Given the description of an element on the screen output the (x, y) to click on. 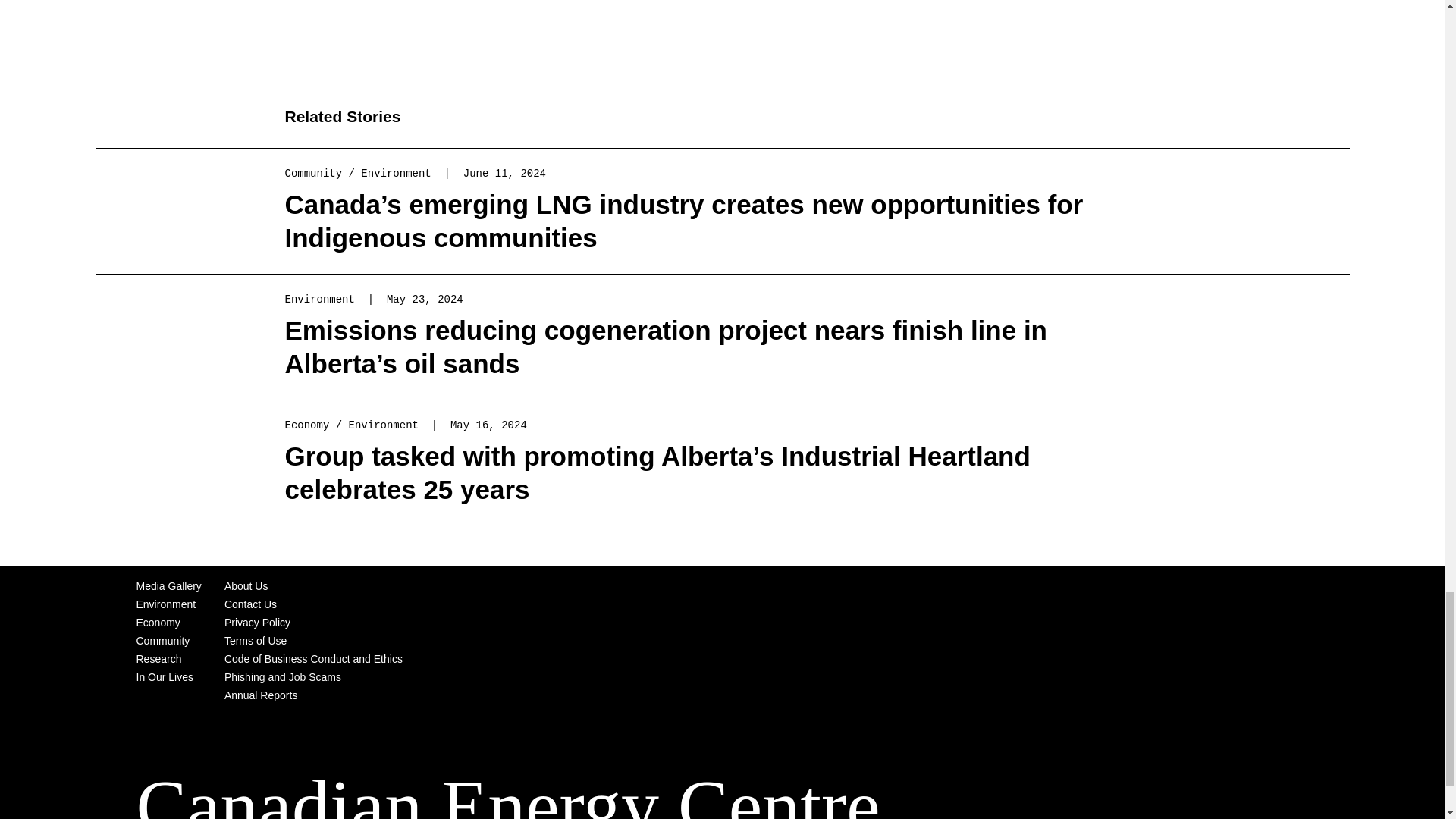
Economy (307, 425)
Community (313, 173)
Economy (158, 622)
Environment (395, 173)
Media Gallery (169, 585)
Environment (384, 425)
Environment (320, 299)
Community (163, 640)
Environment (166, 604)
